Given the description of an element on the screen output the (x, y) to click on. 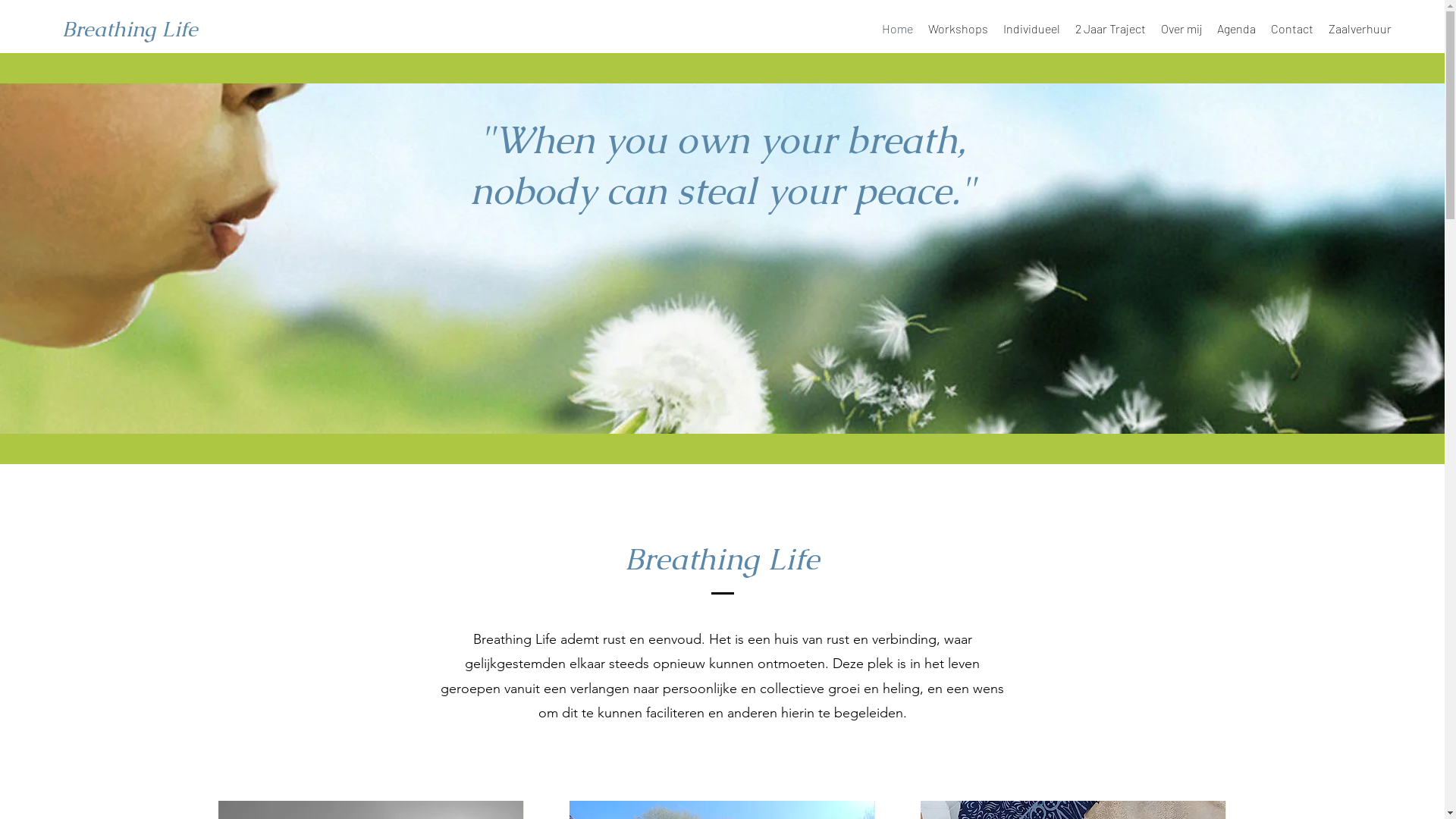
Breathing Life Element type: text (129, 28)
Contact Element type: text (1292, 28)
Individueel Element type: text (1031, 28)
Zaalverhuur Element type: text (1360, 28)
Workshops Element type: text (957, 28)
2 Jaar Traject Element type: text (1110, 28)
Agenda Element type: text (1236, 28)
Over mij Element type: text (1181, 28)
Home Element type: text (897, 28)
